Given the description of an element on the screen output the (x, y) to click on. 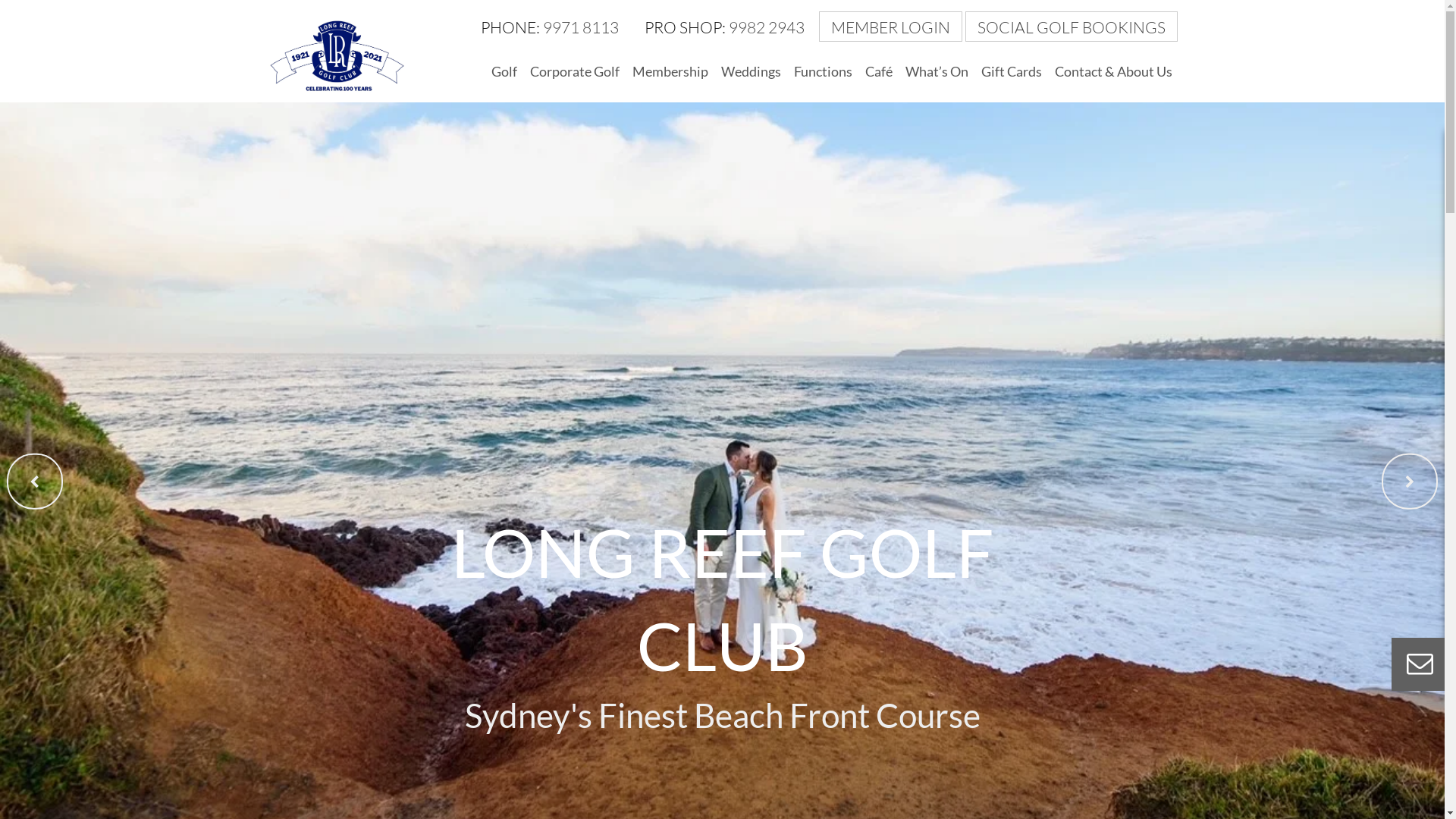
Corporate Golf Element type: text (574, 71)
9971 8113 Element type: text (580, 27)
SOCIAL GOLF BOOKINGS Element type: text (1070, 27)
MEMBER LOGIN Element type: text (892, 27)
Weddings Element type: text (750, 71)
Contact & About Us Element type: text (1113, 71)
Membership Element type: text (669, 71)
Functions Element type: text (822, 71)
Long Reef Golf Club Element type: hover (334, 54)
9982 2943 Element type: text (765, 27)
Golf Element type: text (503, 71)
Gift Cards Element type: text (1010, 71)
